Given the description of an element on the screen output the (x, y) to click on. 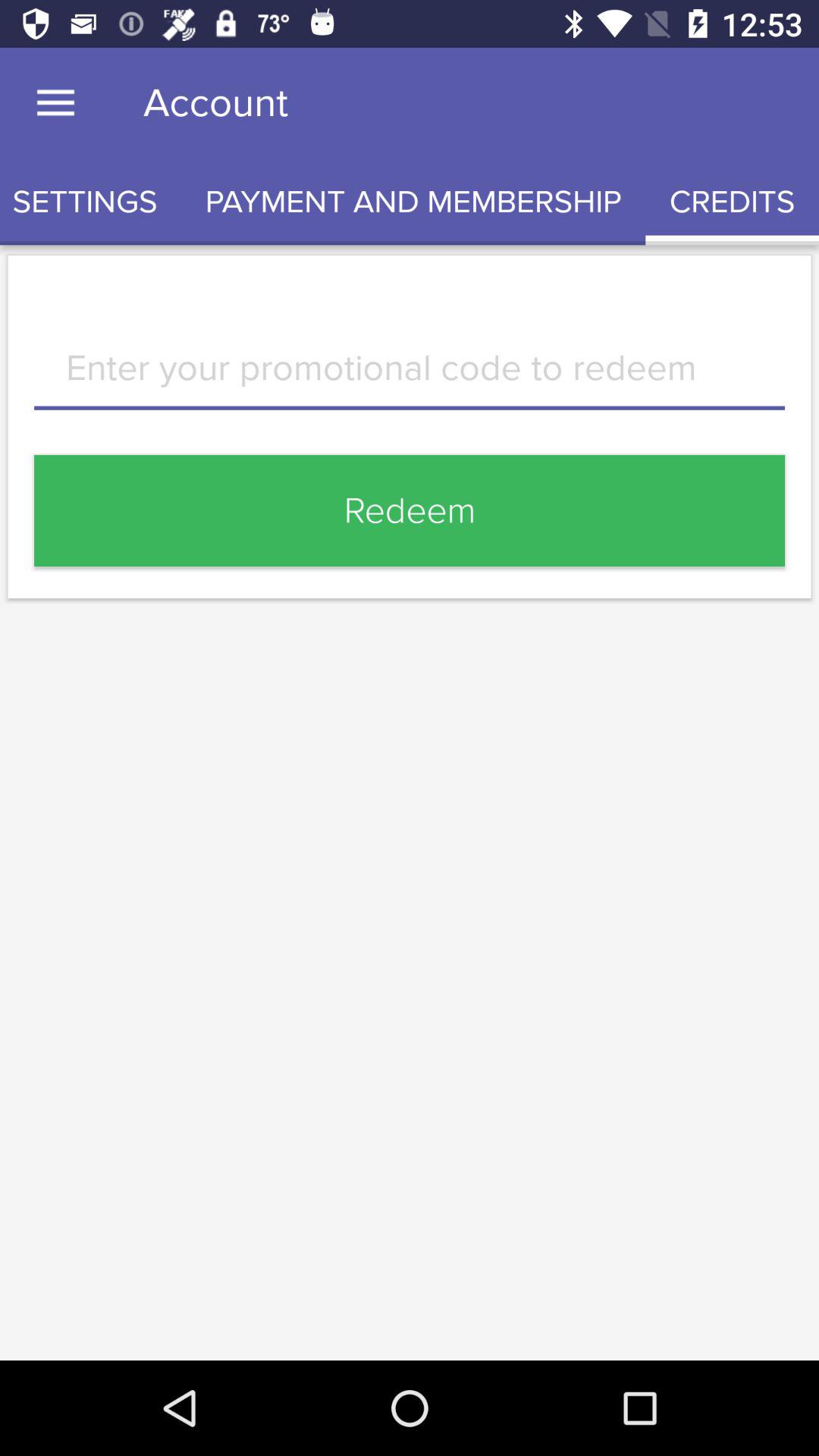
turn on payment and membership icon (413, 202)
